Given the description of an element on the screen output the (x, y) to click on. 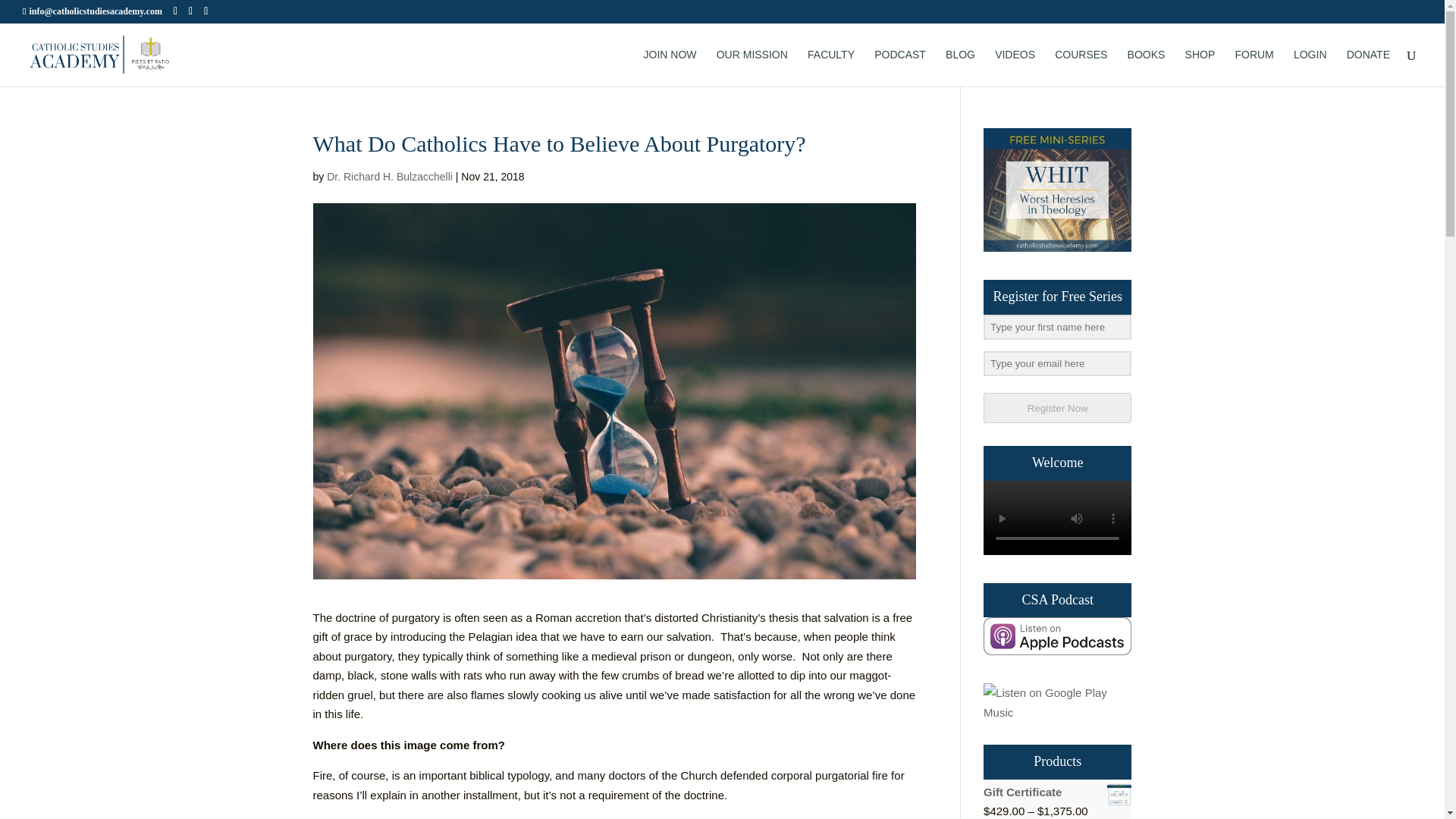
PODCAST (900, 67)
Dr. Richard H. Bulzacchelli (389, 176)
BOOKS (1146, 67)
FORUM (1253, 67)
OUR MISSION (751, 67)
FACULTY (831, 67)
COURSES (1080, 67)
Posts by Dr. Richard H. Bulzacchelli (389, 176)
JOIN NOW (670, 67)
VIDEOS (1014, 67)
